Given the description of an element on the screen output the (x, y) to click on. 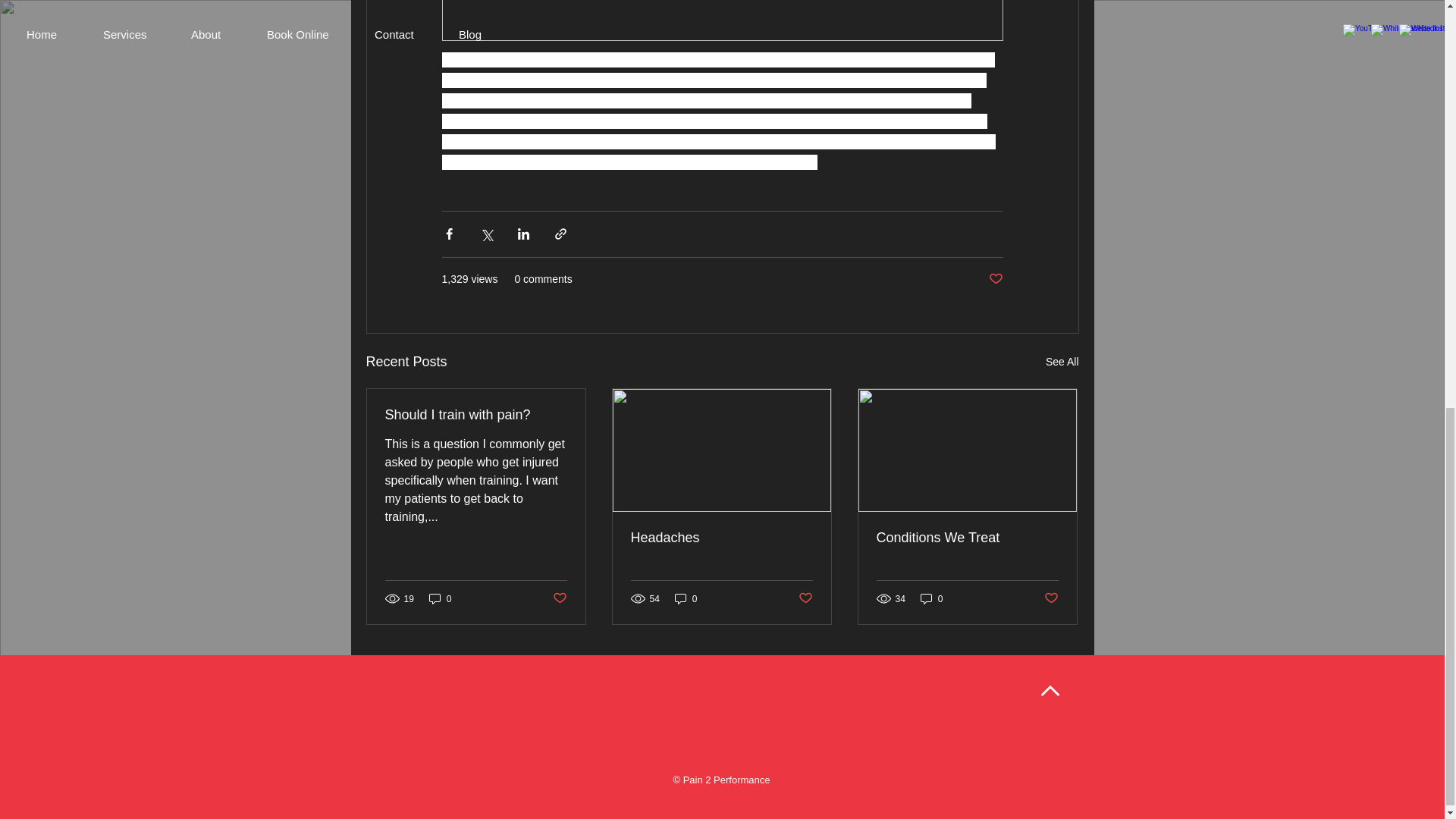
See All (1061, 362)
Post not marked as liked (1050, 598)
Post not marked as liked (804, 598)
0 (685, 598)
Conditions We Treat (967, 537)
Post not marked as liked (995, 279)
Should I train with pain? (476, 415)
0 (931, 598)
Post not marked as liked (558, 598)
0 (440, 598)
